Given the description of an element on the screen output the (x, y) to click on. 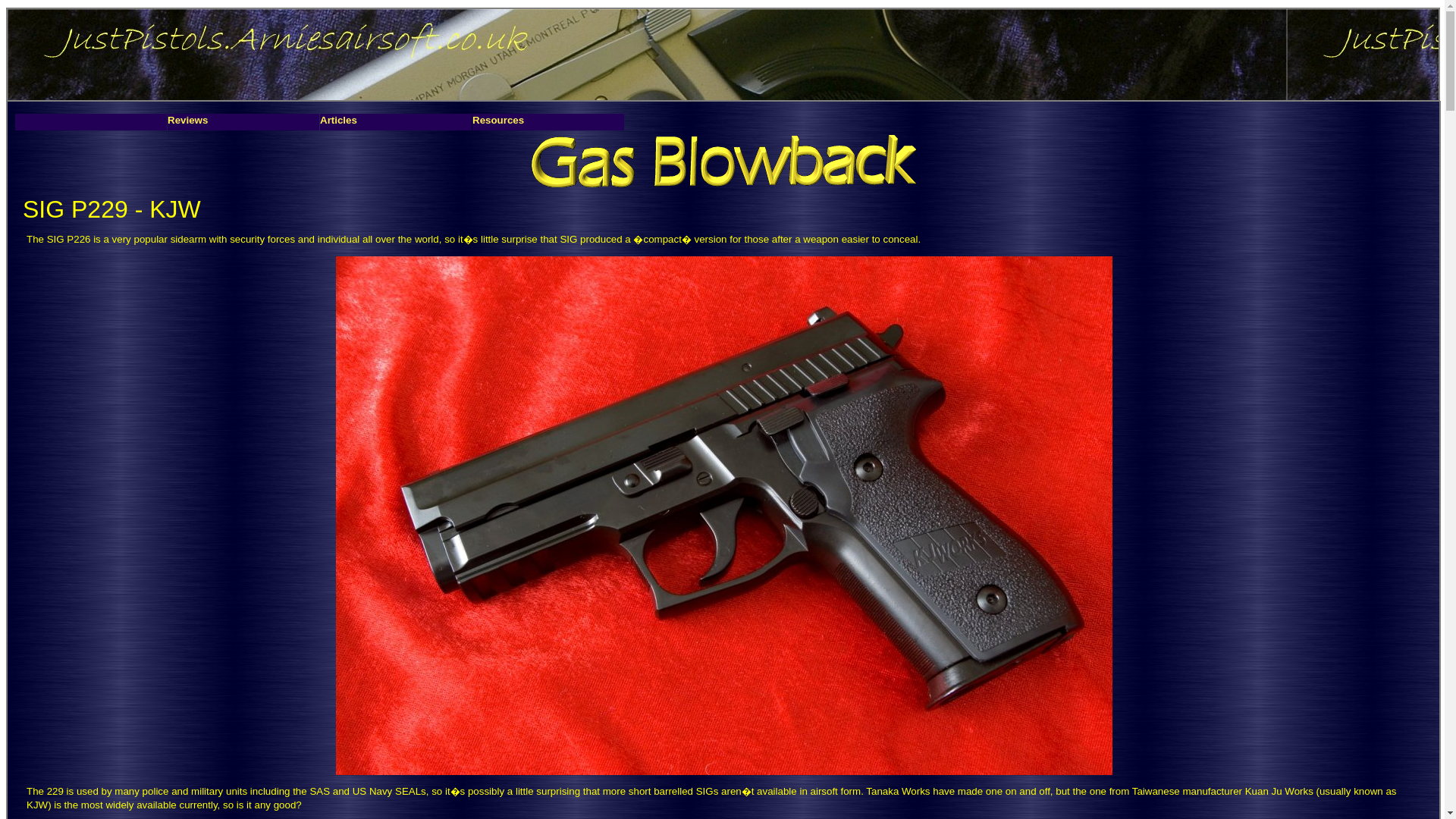
Reviews (242, 121)
Resources (547, 121)
Articles (395, 121)
